Given the description of an element on the screen output the (x, y) to click on. 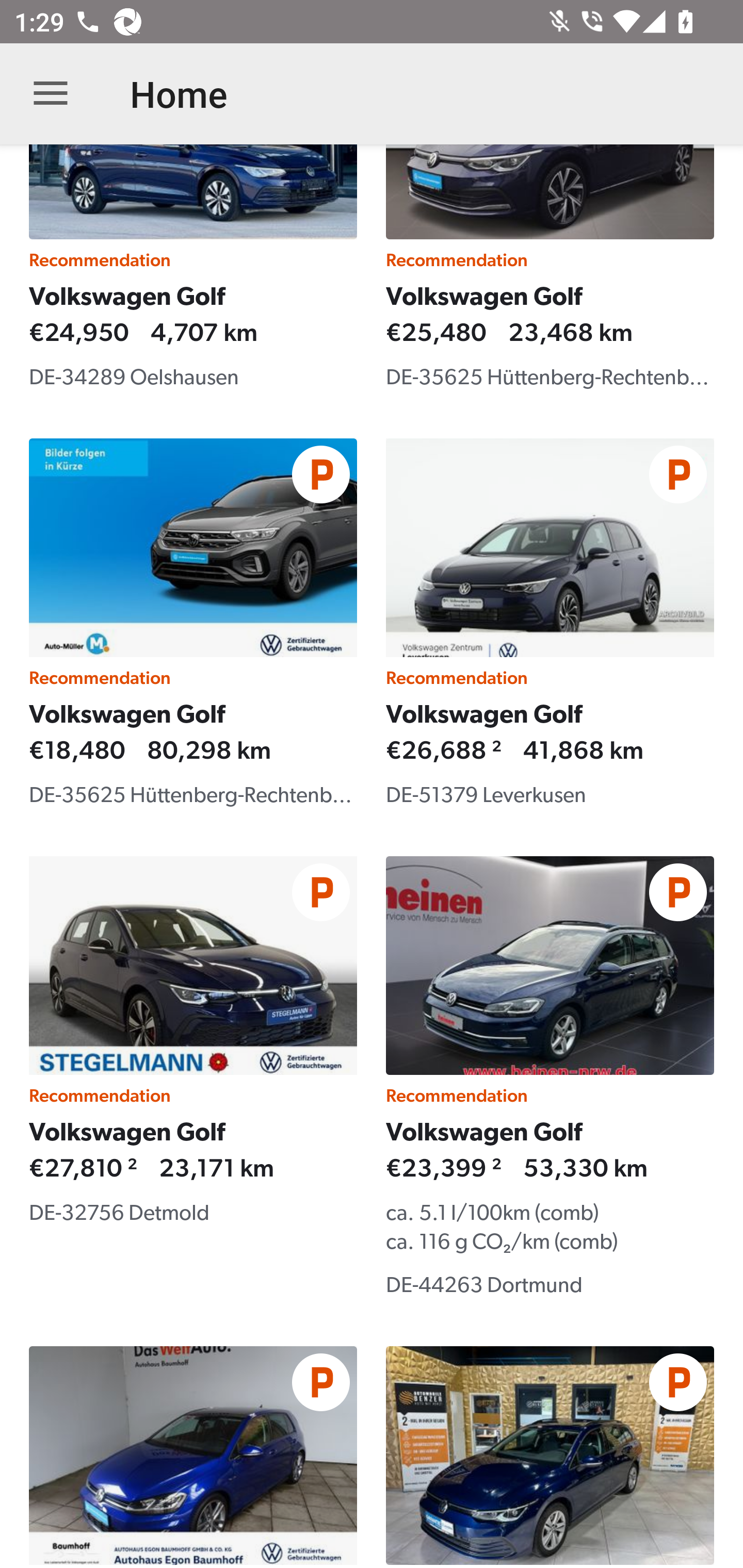
Open navigation bar (50, 93)
